Given the description of an element on the screen output the (x, y) to click on. 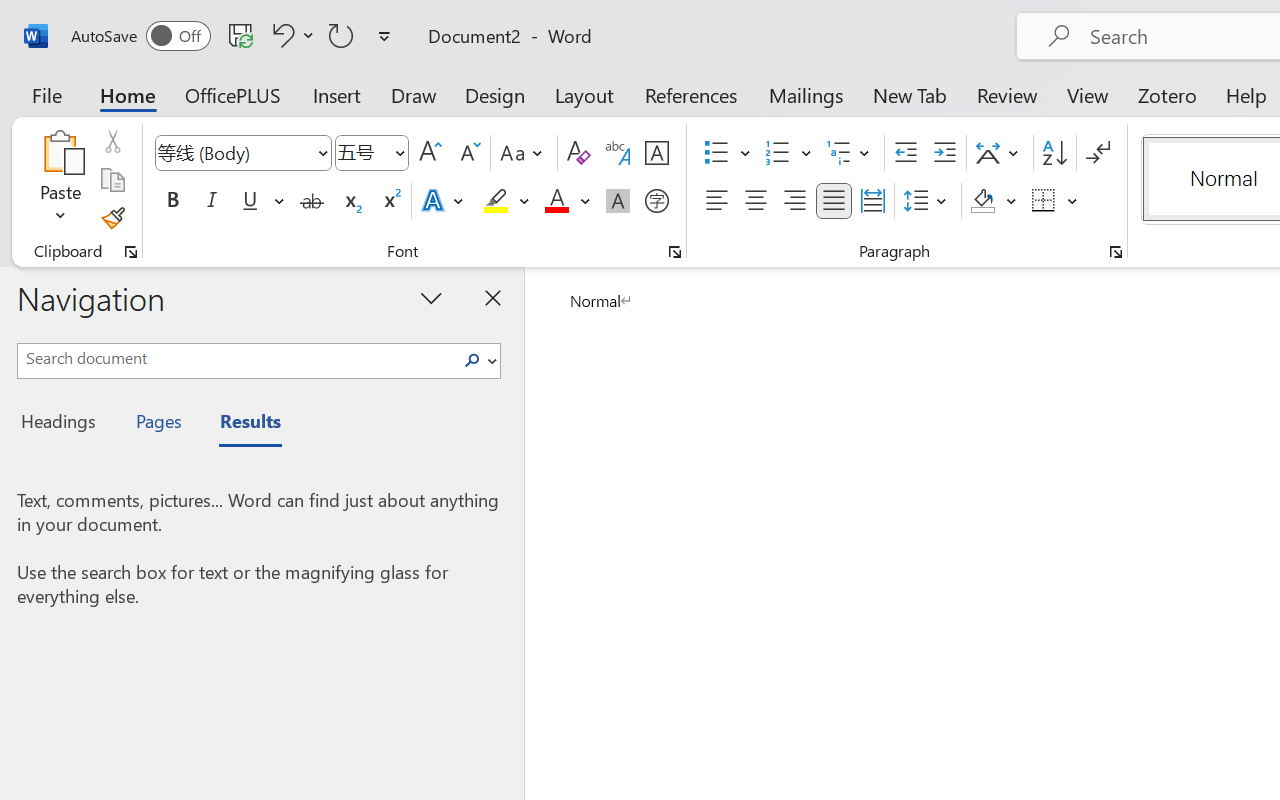
Asian Layout (1000, 153)
Search (478, 360)
Decrease Indent (906, 153)
Repeat Doc Close (341, 35)
Grow Font (430, 153)
Headings (64, 424)
Draw (413, 94)
Task Pane Options (431, 297)
Format Painter (112, 218)
Insert (337, 94)
View (1087, 94)
